Given the description of an element on the screen output the (x, y) to click on. 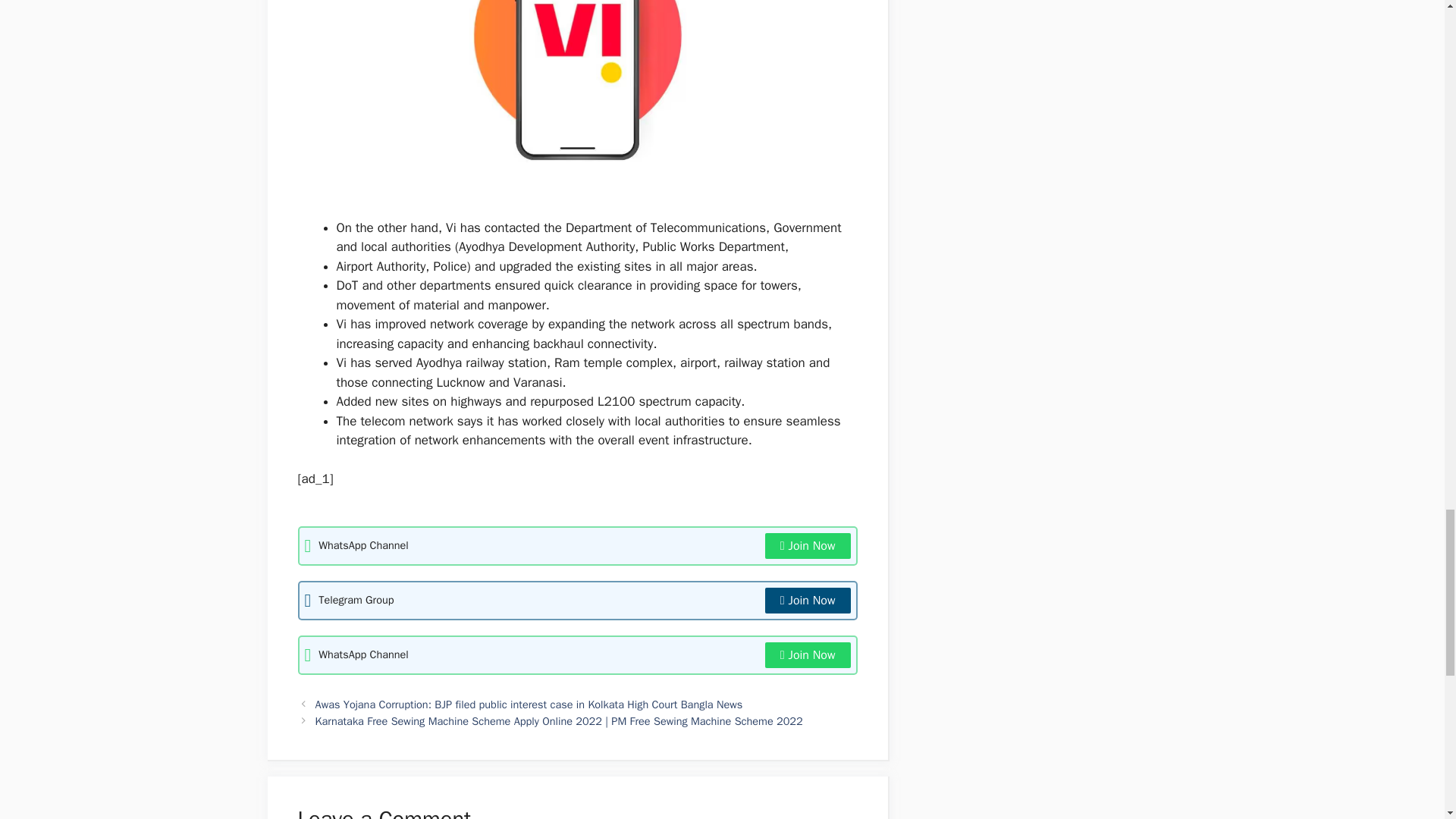
Join Now (807, 545)
Join Now (807, 600)
Join Now (807, 655)
